Given the description of an element on the screen output the (x, y) to click on. 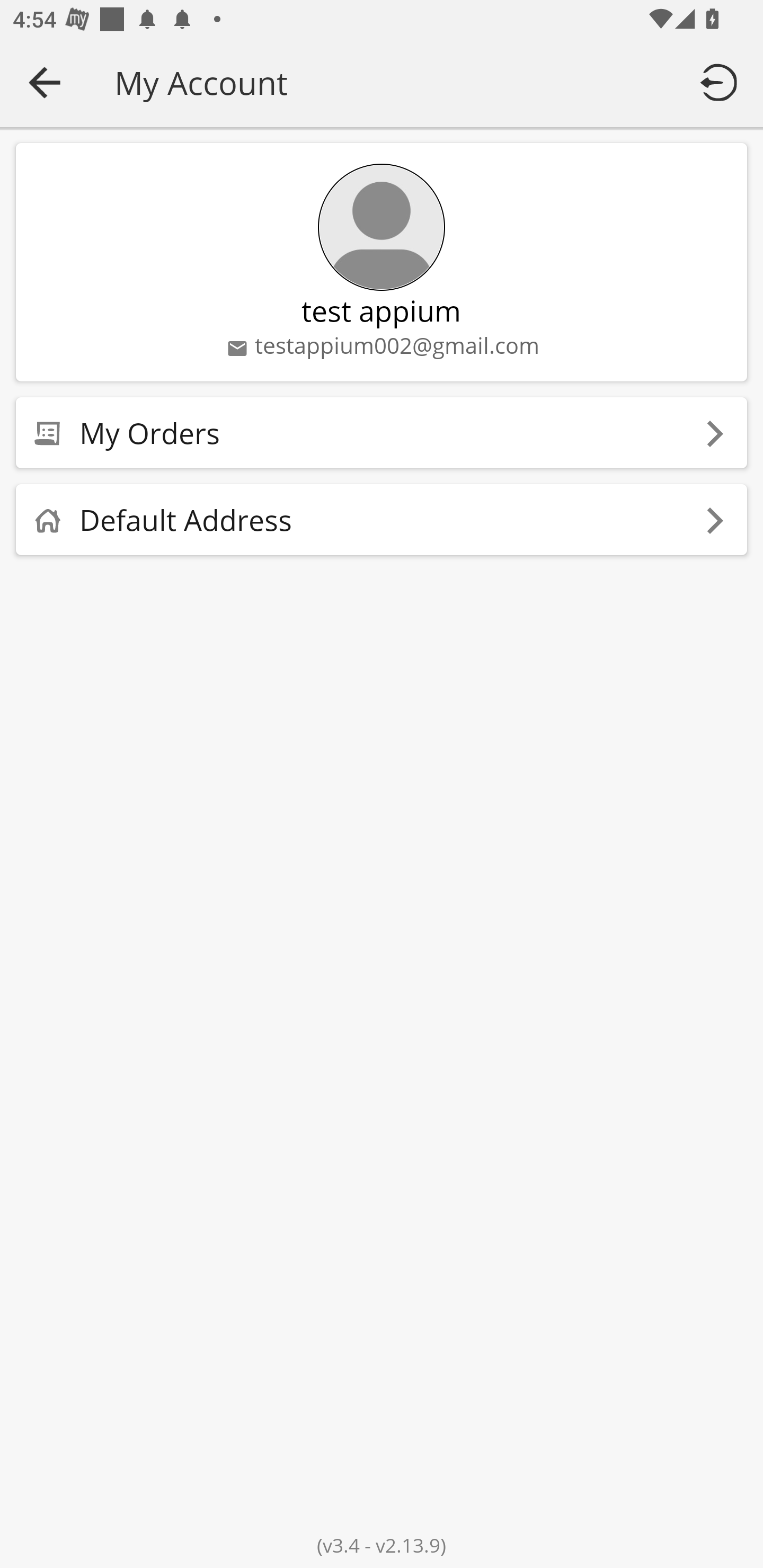
Navigate up (44, 82)
LOGOUT (721, 81)
